Given the description of an element on the screen output the (x, y) to click on. 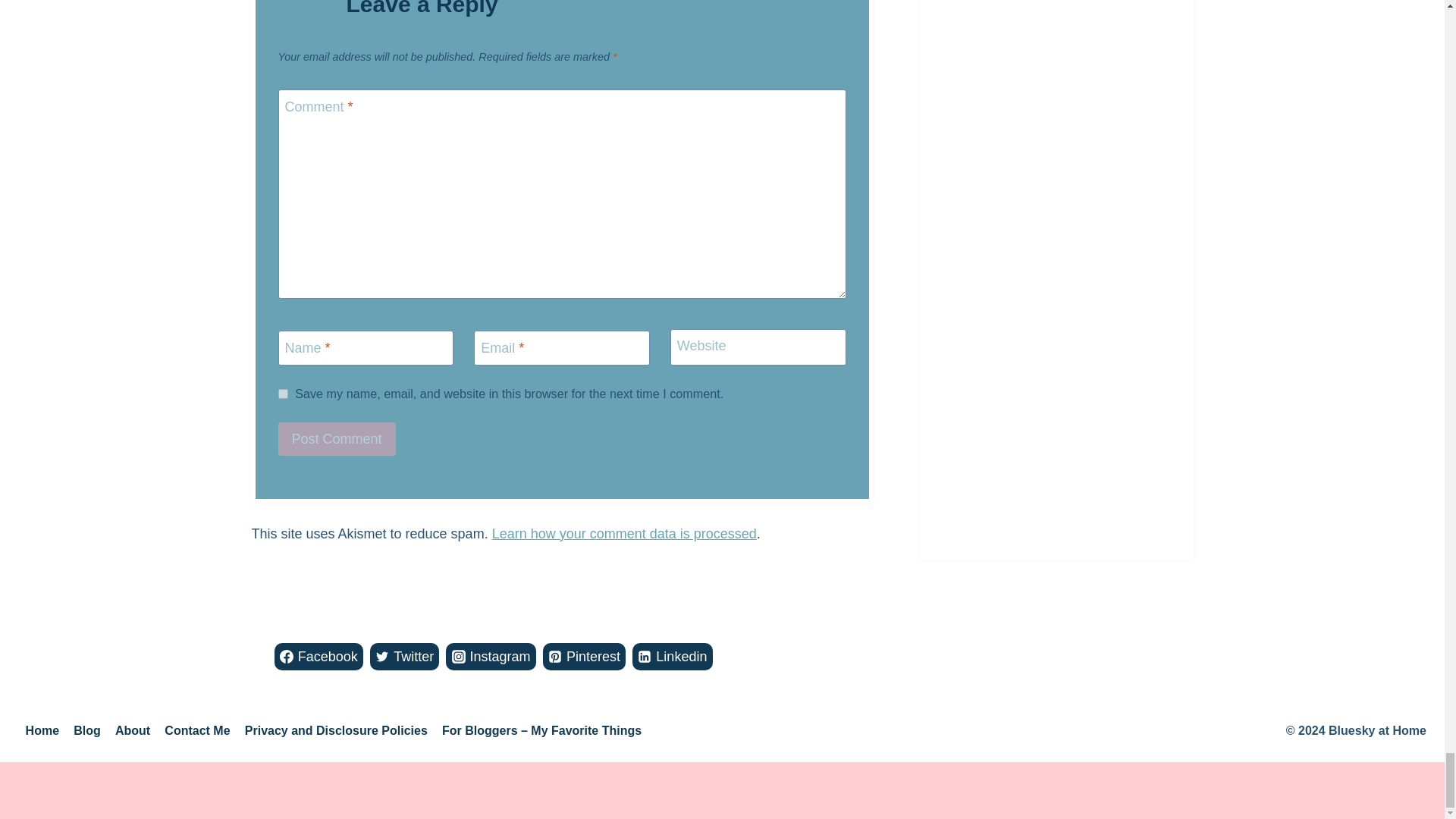
yes (282, 393)
Post Comment (336, 438)
